Given the description of an element on the screen output the (x, y) to click on. 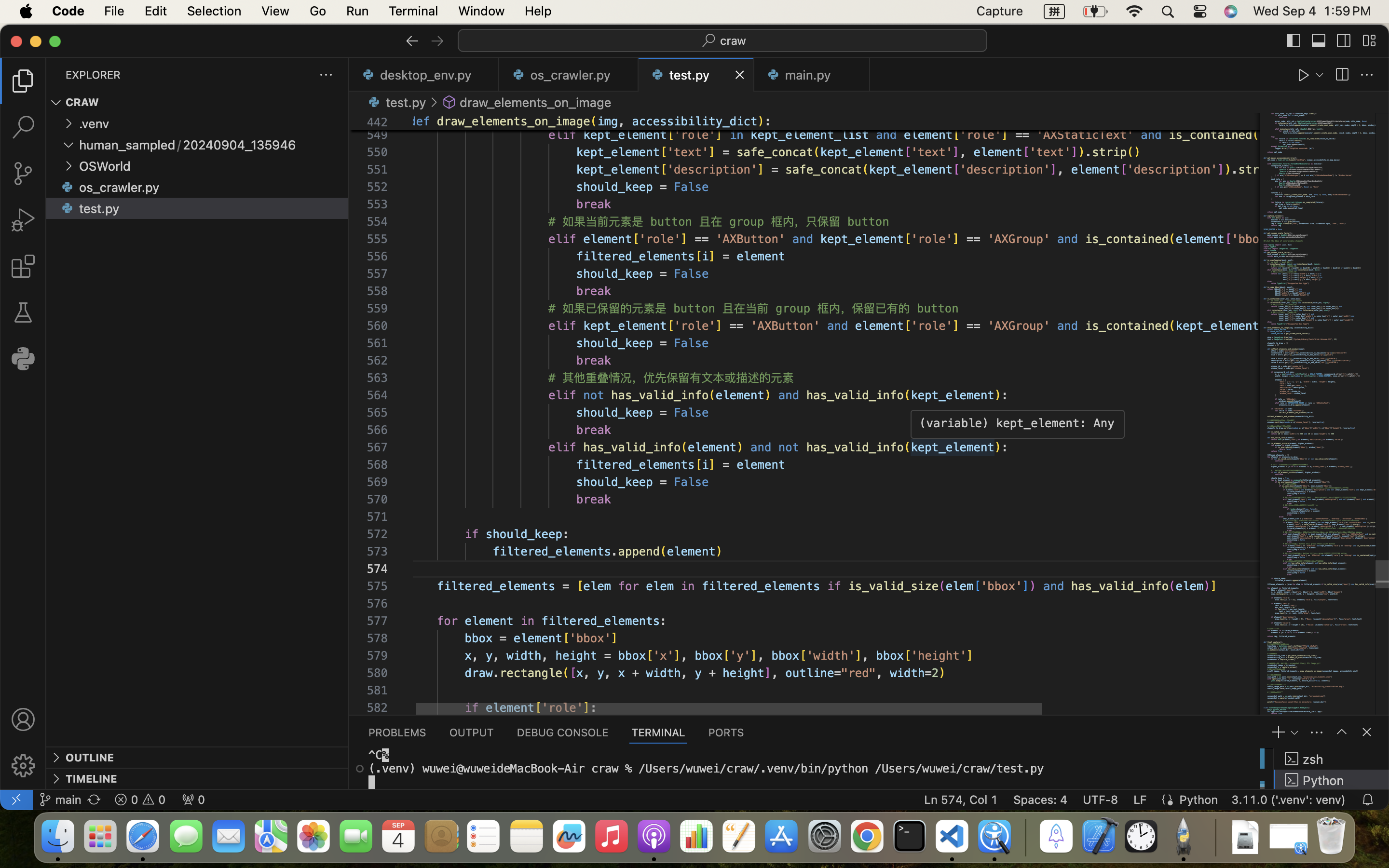
0  Element type: AXRadioButton (23, 173)
1 test.py   Element type: AXRadioButton (696, 74)
 0 Element type: AXButton (193, 799)
human_sampled Element type: AXStaticText (127, 144)
0  Element type: AXRadioButton (23, 219)
